Given the description of an element on the screen output the (x, y) to click on. 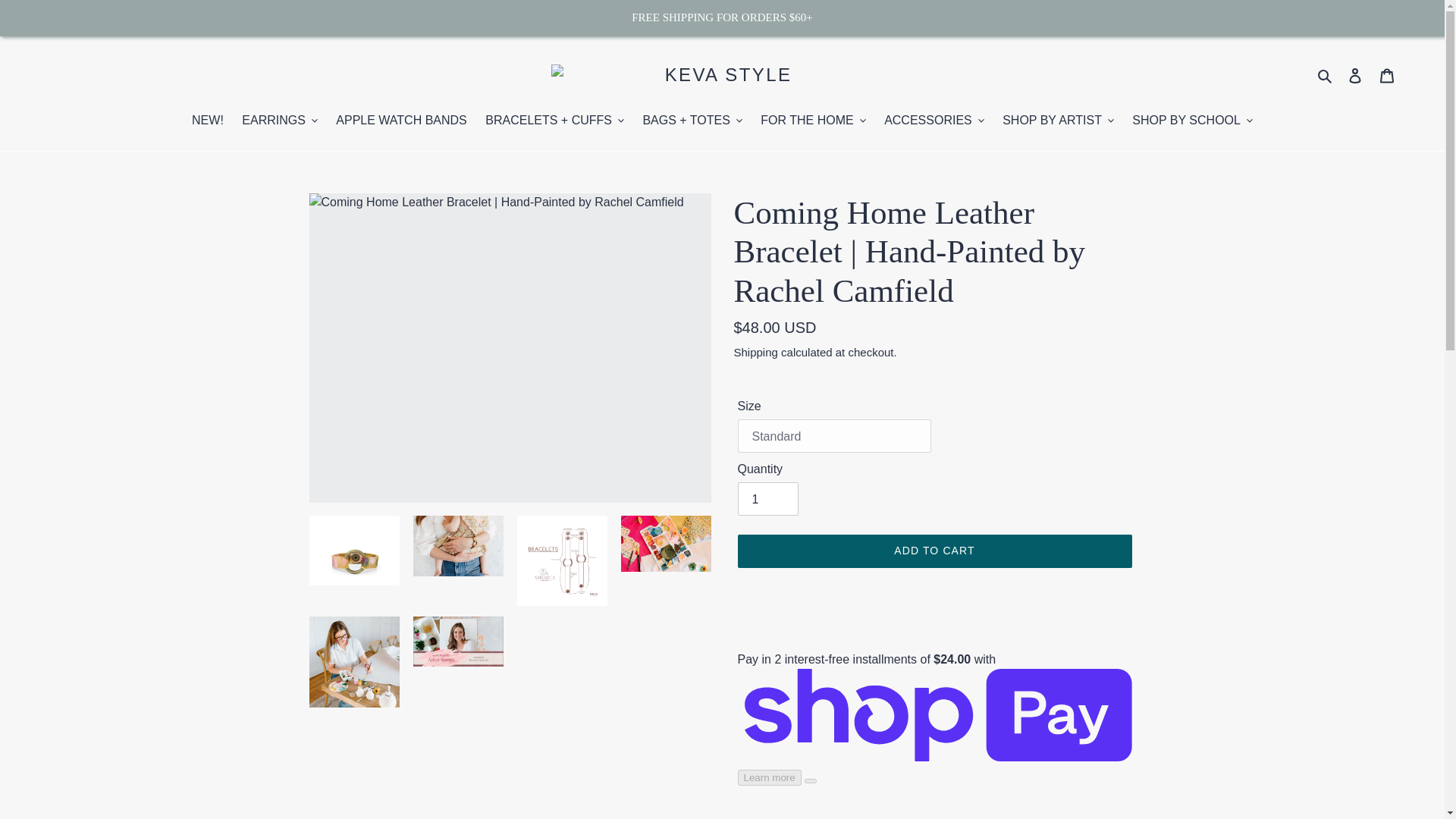
Log in (1355, 75)
1 (766, 498)
Cart (1387, 75)
Search (1326, 75)
